Given the description of an element on the screen output the (x, y) to click on. 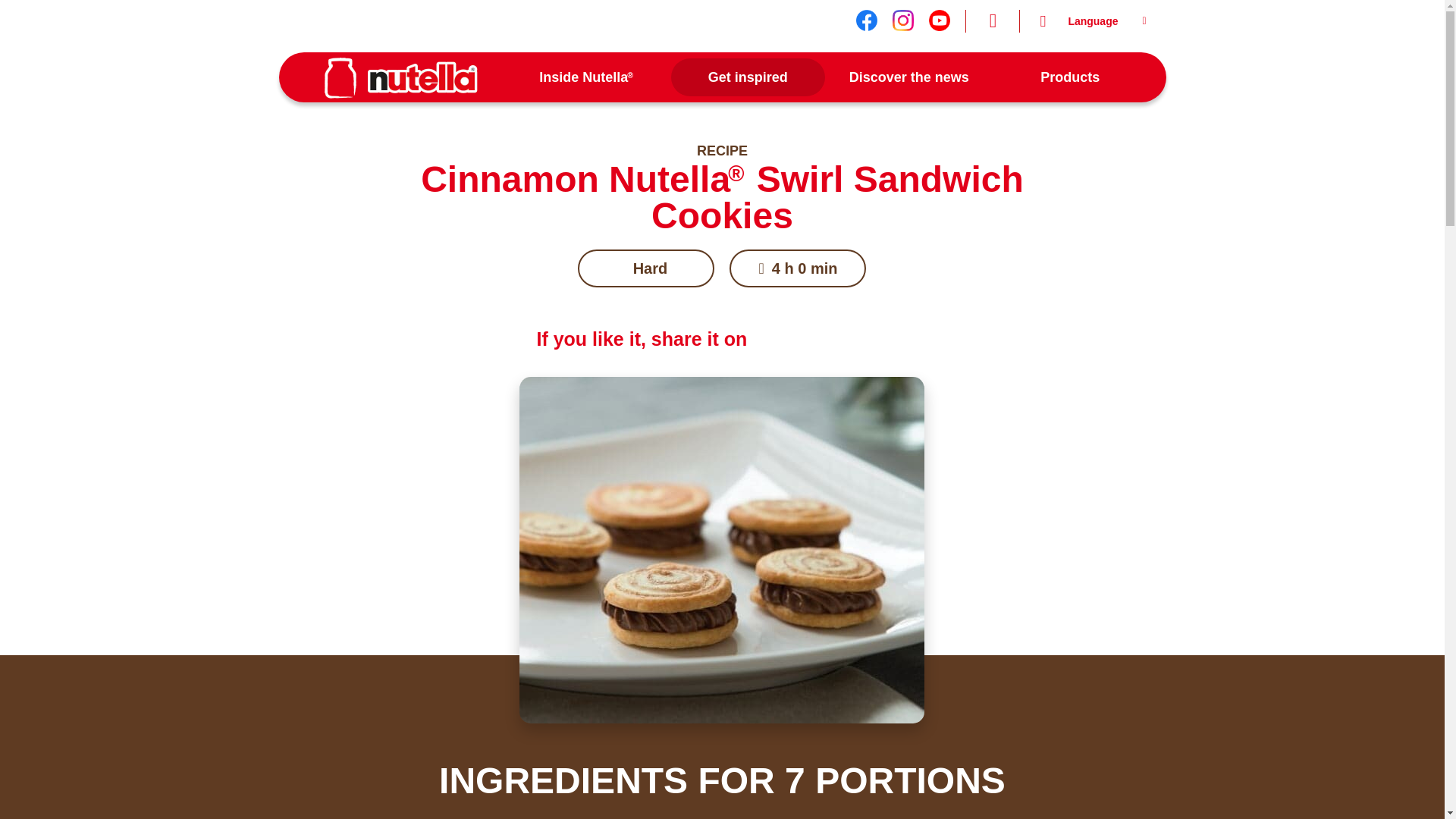
Language (1092, 20)
Follow us on facebook (866, 20)
Products (1069, 77)
Follow us on facebook (866, 20)
Discover the news (909, 77)
Follow us on youtube (939, 20)
Follow us on instagram (903, 20)
Follow us on instagram (903, 20)
Get inspired (748, 77)
Follow us on youtube (939, 20)
